Given the description of an element on the screen output the (x, y) to click on. 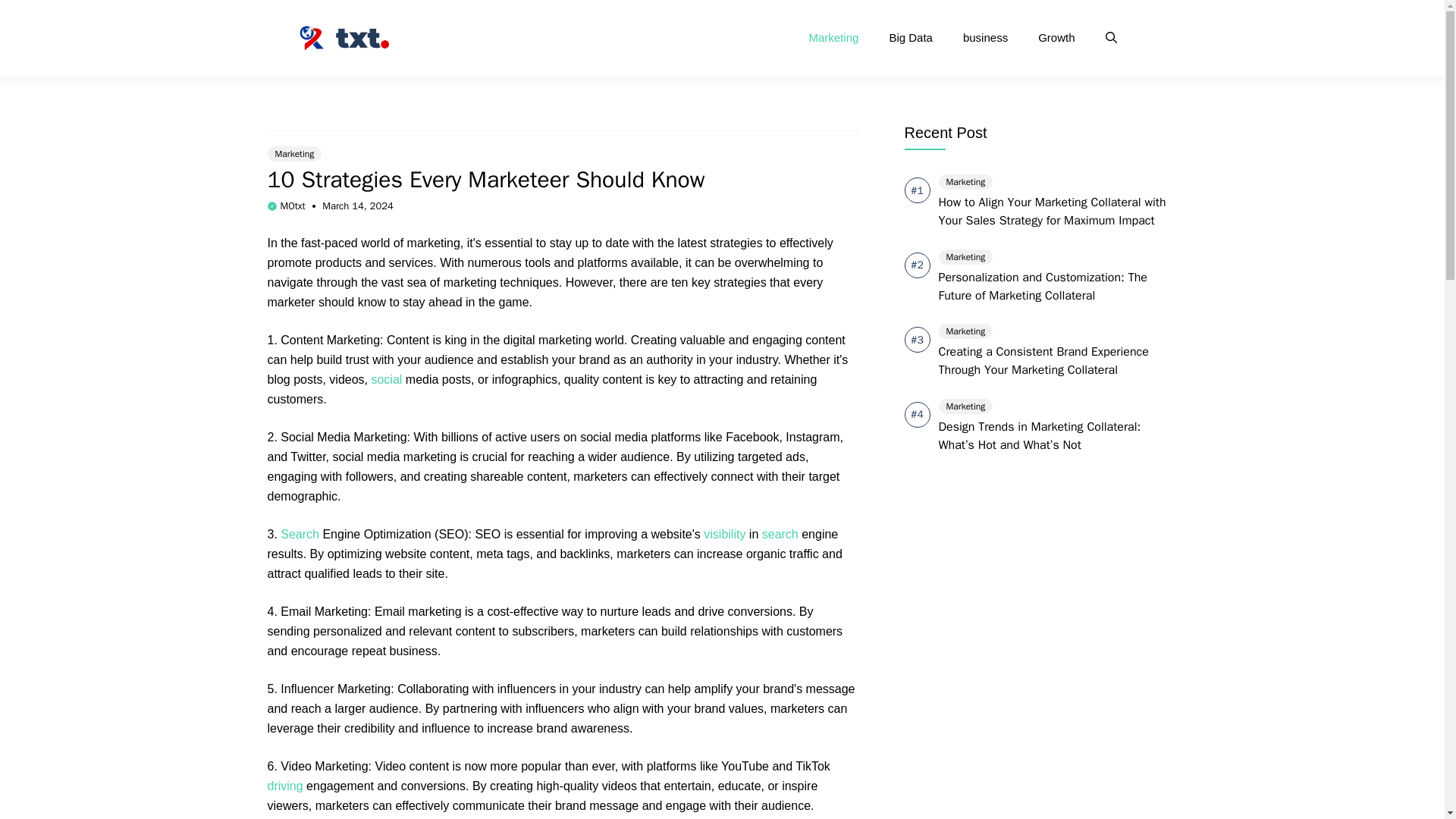
Marketing (294, 153)
Growth (1056, 37)
Big Data (910, 37)
digital marketing (547, 339)
techniques (528, 282)
Posts tagged with Drive (710, 611)
Posts tagged with Effective (535, 611)
Posts tagged with Techniques (528, 282)
effective (535, 611)
Posts tagged with digital marketing (547, 339)
Marketing (834, 37)
marketing (433, 242)
drive (710, 611)
business (985, 37)
MOtxt (293, 205)
